Given the description of an element on the screen output the (x, y) to click on. 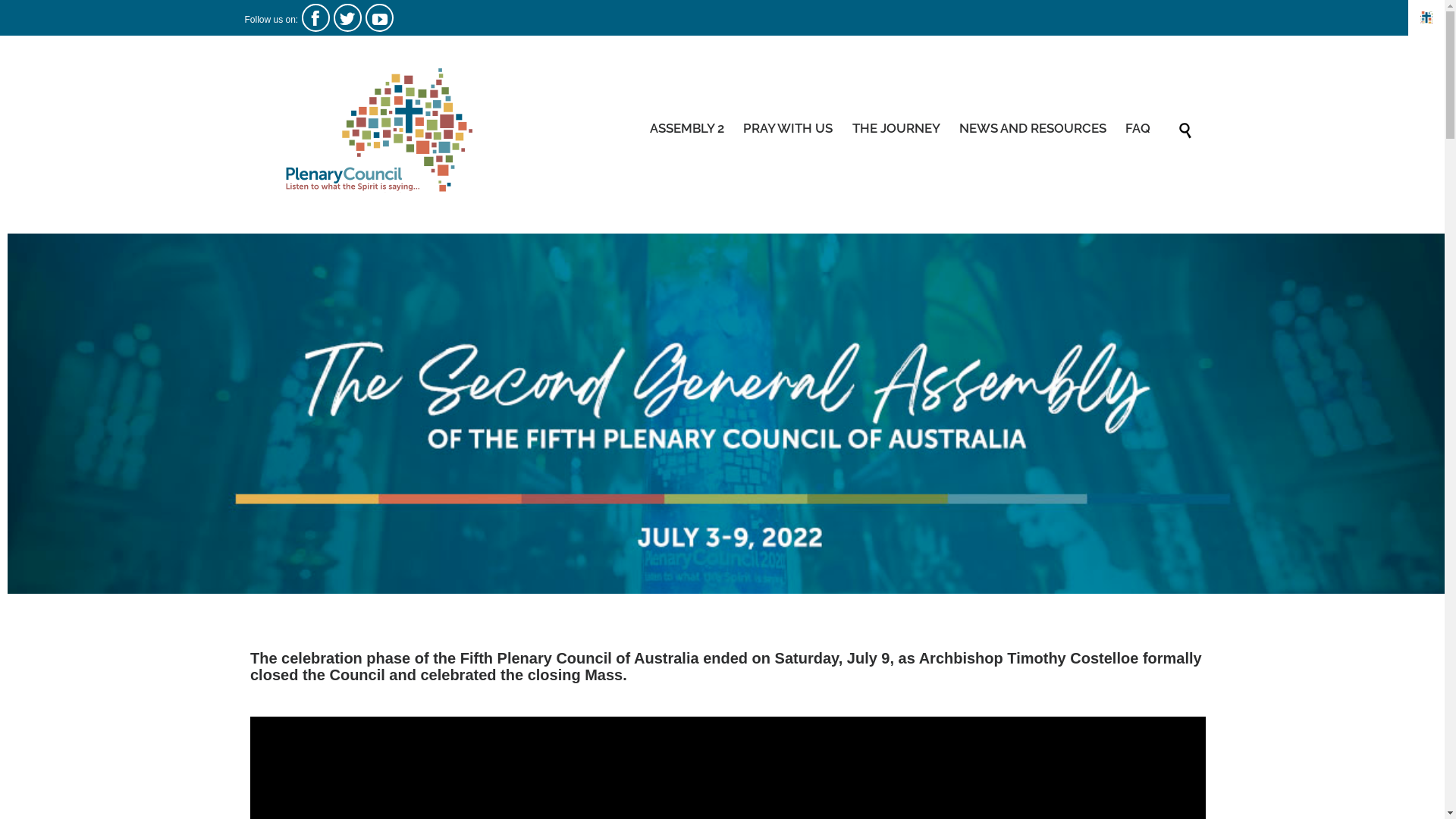
THE JOURNEY Element type: text (895, 128)
Accessibility Helper sidebar Element type: hover (1426, 18)
PRAY WITH US Element type: text (787, 128)
NEWS AND RESOURCES Element type: text (1032, 128)
Skip to content Element type: text (1161, 110)
ASSEMBLY 2 Element type: text (686, 128)
FAQ Element type: text (1137, 128)
Plenary Council Element type: hover (376, 130)
